Given the description of an element on the screen output the (x, y) to click on. 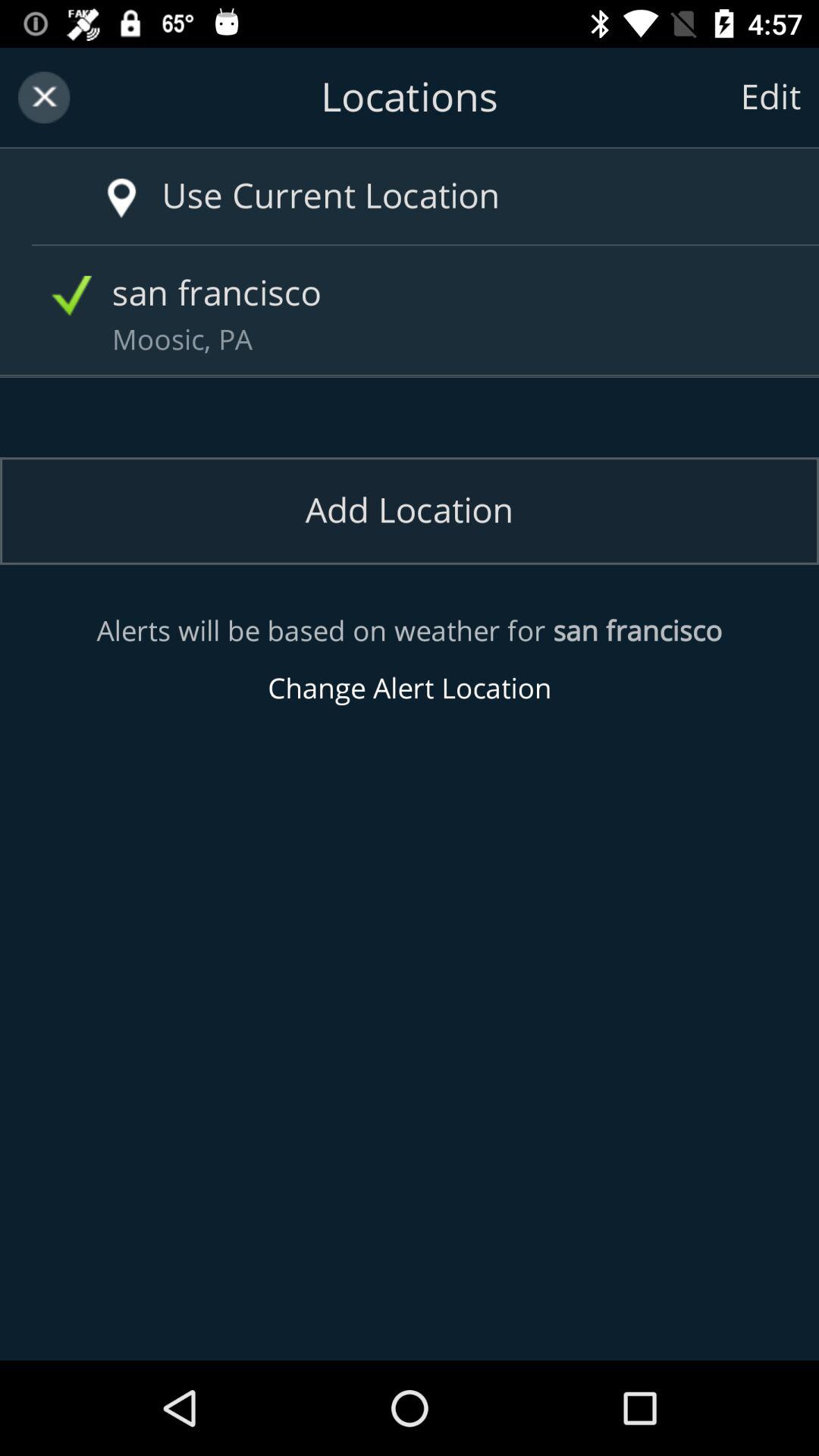
swipe to the edit icon (770, 97)
